Given the description of an element on the screen output the (x, y) to click on. 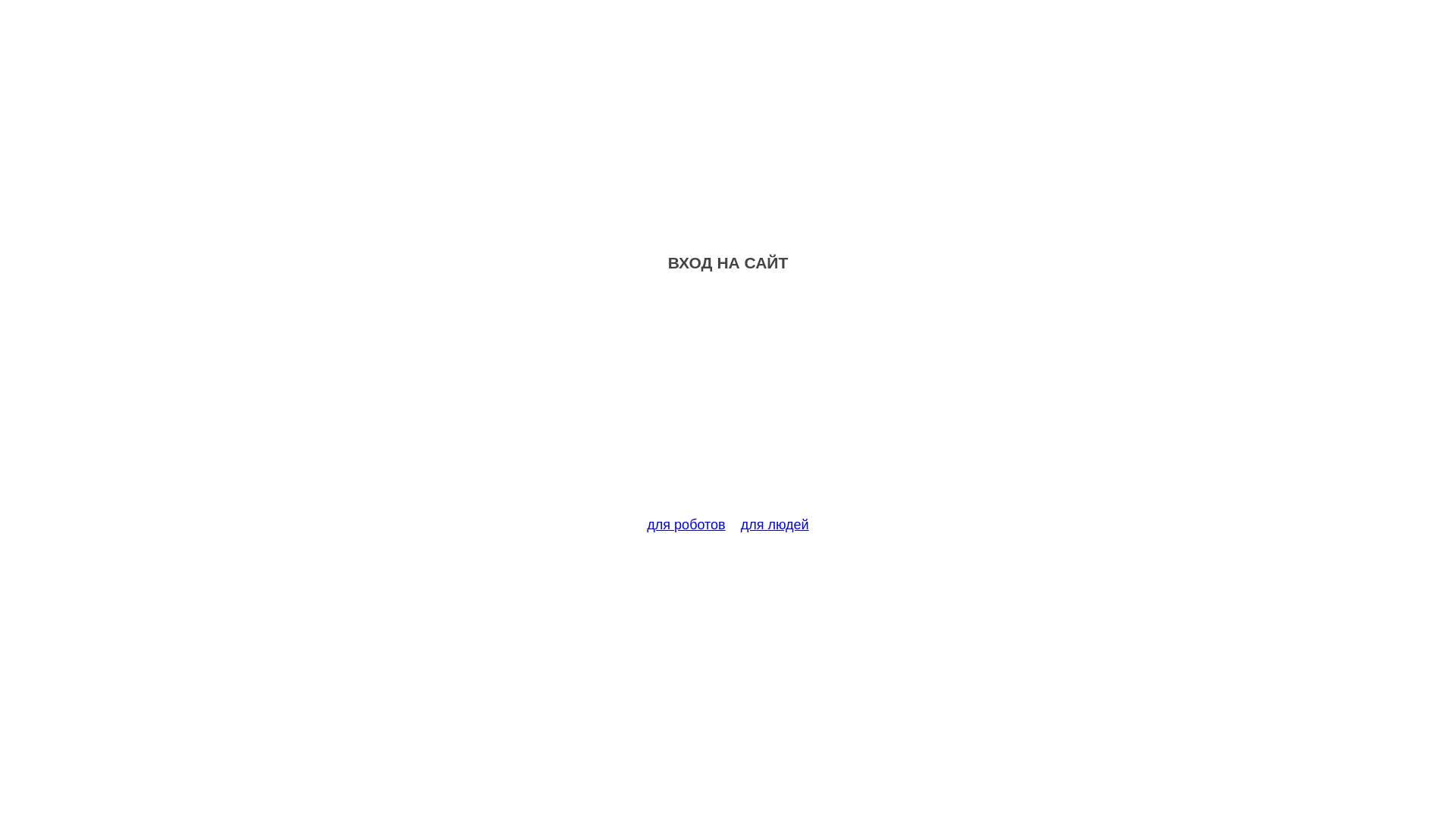
Advertisement Element type: hover (727, 403)
